Given the description of an element on the screen output the (x, y) to click on. 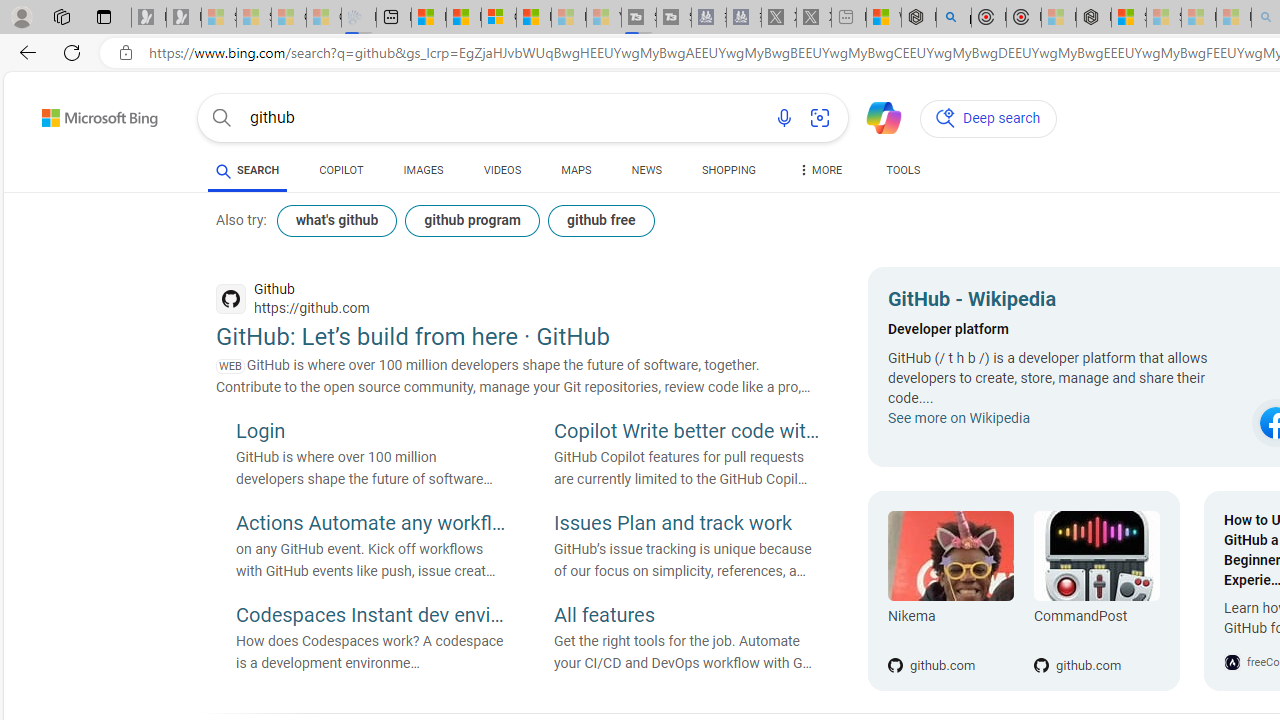
Chat (875, 116)
SHOPPING (728, 173)
what's github (337, 220)
Overview (498, 17)
Microsoft Start - Sleeping (568, 17)
CommandPost CommandPost github.com (1086, 591)
github program (472, 220)
MAPS (576, 173)
IMAGES (423, 173)
